Given the description of an element on the screen output the (x, y) to click on. 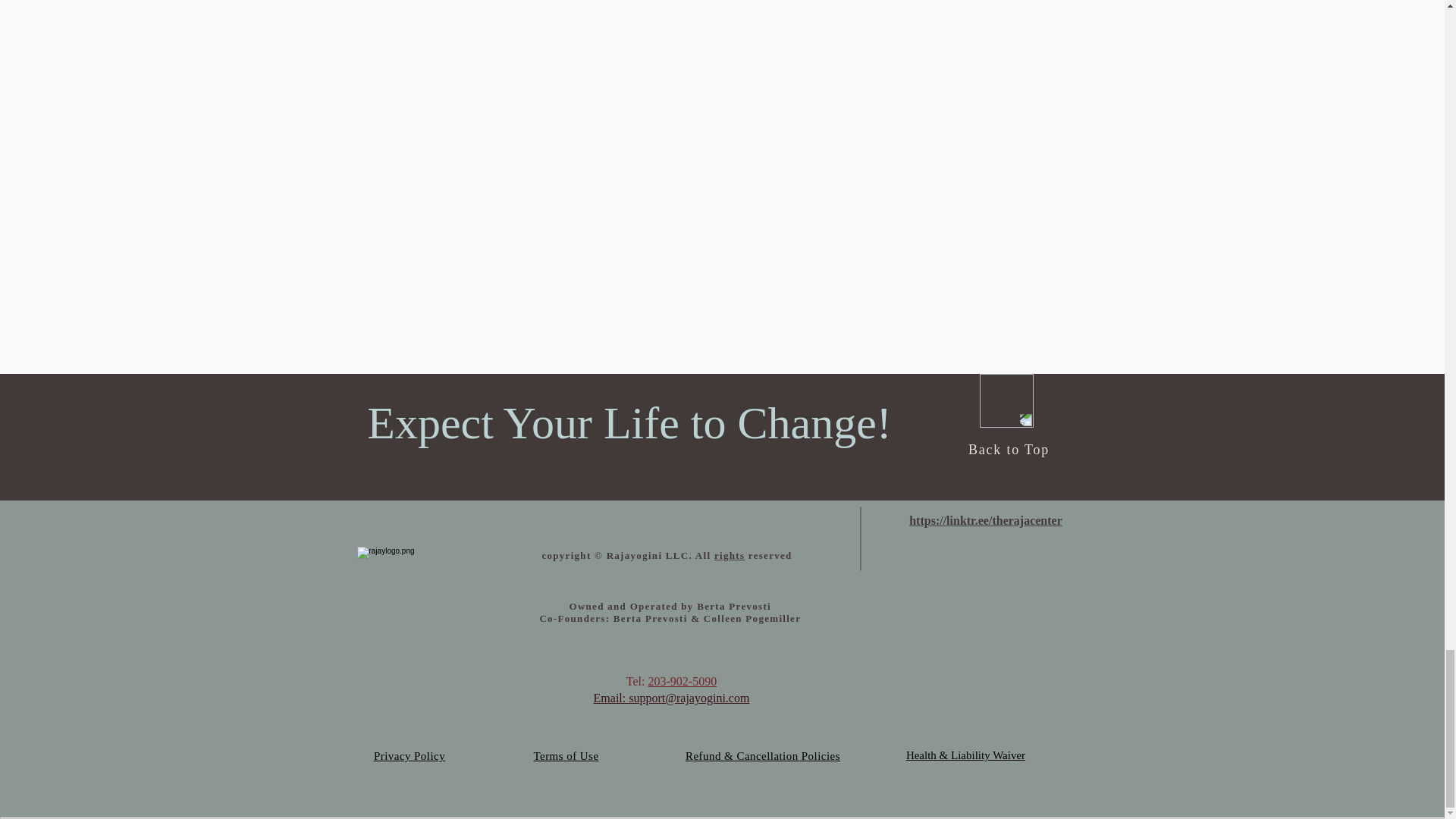
Back to Top (1008, 449)
Terms of Use (566, 756)
Privacy Policy (409, 756)
203-902-5090 (681, 680)
rights (729, 555)
